Given the description of an element on the screen output the (x, y) to click on. 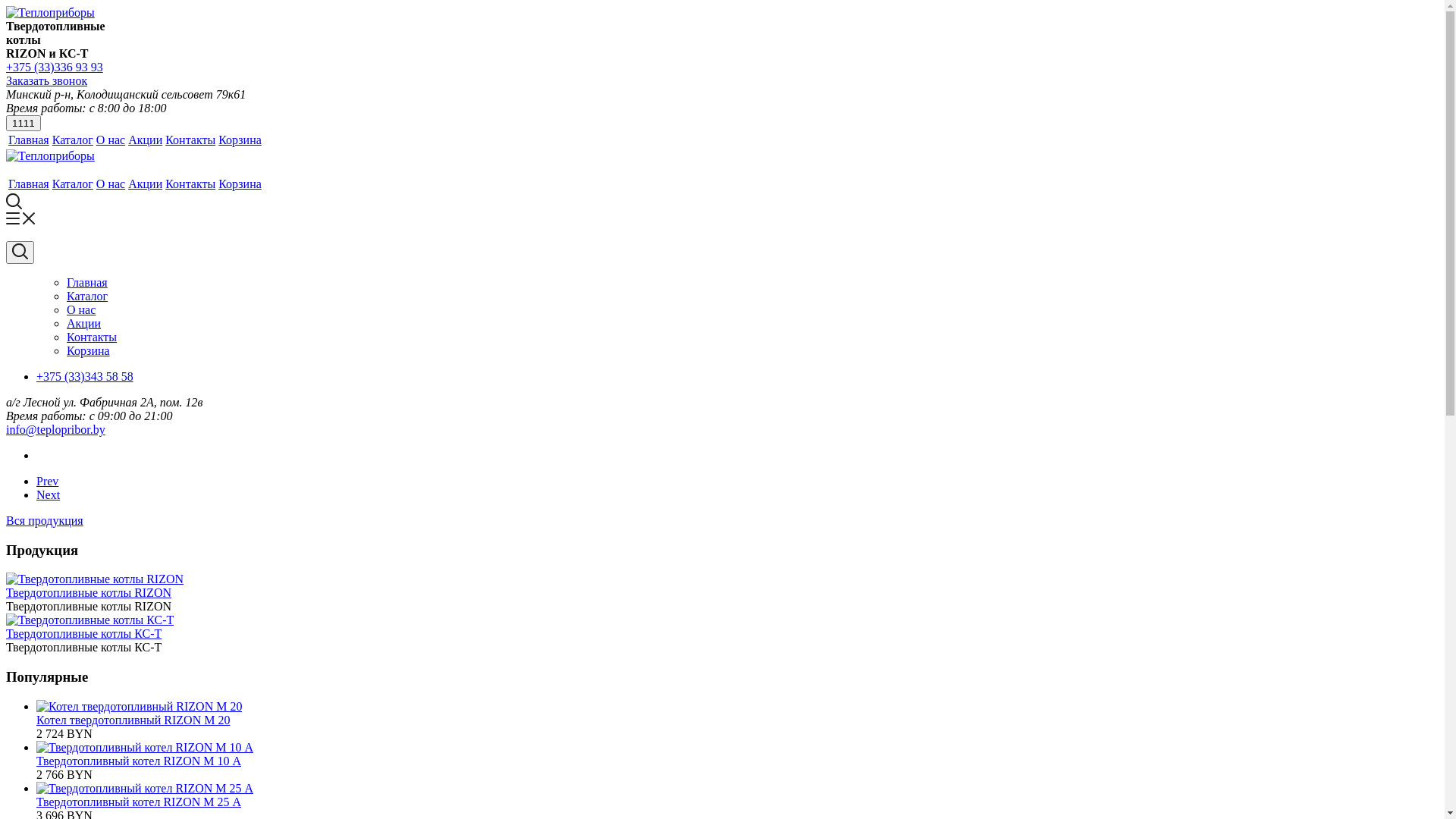
Next Element type: text (47, 494)
+375 (33)336 93 93 Element type: text (54, 66)
info@teplopribor.by Element type: text (55, 429)
1111 Element type: text (23, 123)
Prev Element type: text (47, 480)
+375 (33)343 58 58 Element type: text (84, 376)
